Given the description of an element on the screen output the (x, y) to click on. 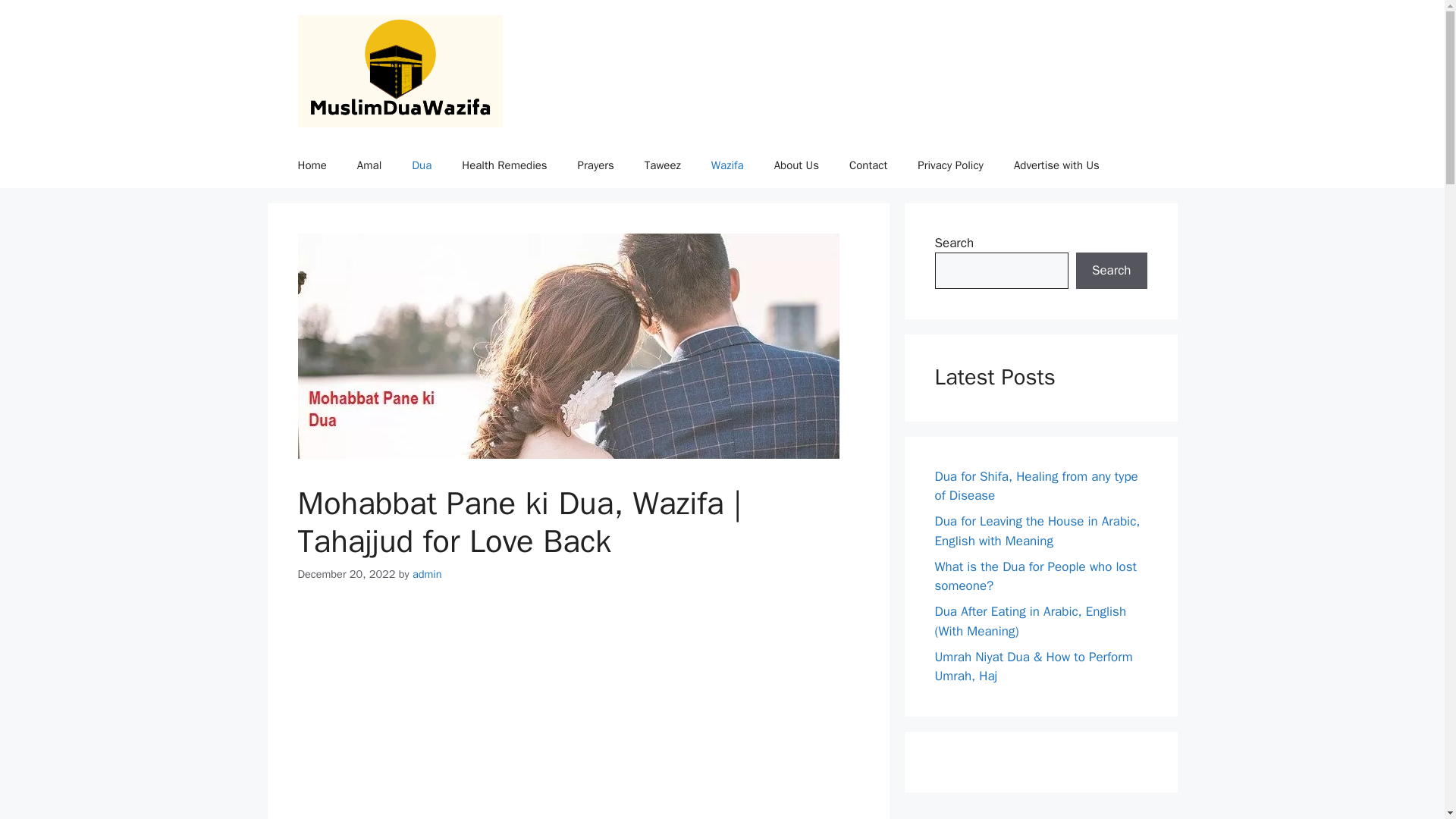
Contact (868, 165)
Amal (369, 165)
Taweez (661, 165)
Dua for Shifa, Healing from any type of Disease (1035, 486)
About Us (796, 165)
Privacy Policy (950, 165)
Advertisement (578, 714)
Dua (421, 165)
Health Remedies (504, 165)
View all posts by admin (427, 573)
Search (1111, 270)
Wazifa (726, 165)
admin (427, 573)
Prayers (595, 165)
Advertise with Us (1056, 165)
